Given the description of an element on the screen output the (x, y) to click on. 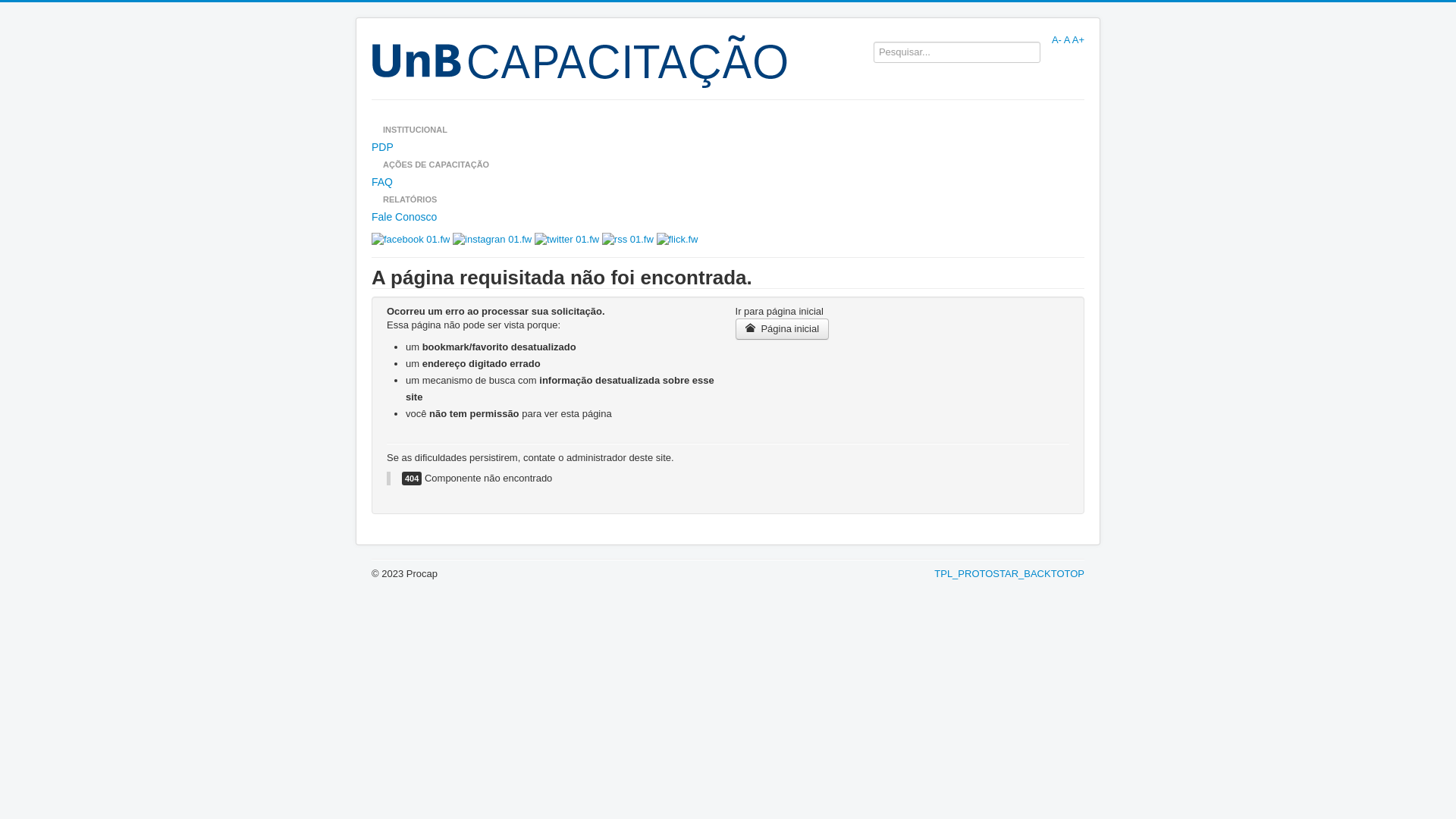
A- Element type: text (1056, 39)
Fale Conosco Element type: text (727, 216)
TPL_PROTOSTAR_BACKTOTOP Element type: text (1009, 573)
A+ Element type: text (1078, 39)
A Element type: text (1066, 39)
FAQ Element type: text (727, 181)
PDP Element type: text (727, 146)
